Given the description of an element on the screen output the (x, y) to click on. 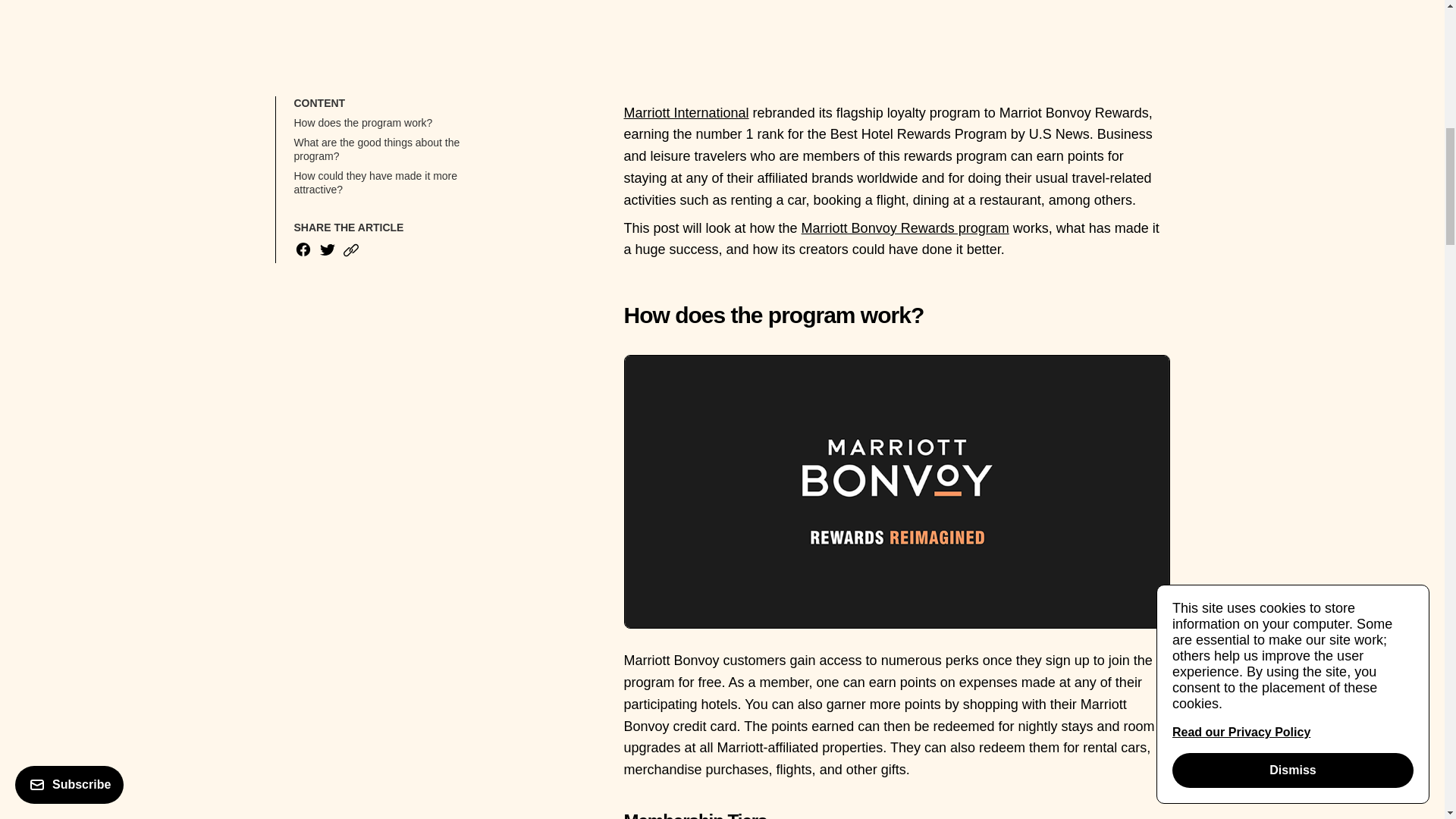
How does the program work? (363, 122)
Marriott International (685, 112)
Marriott Bonvoy Rewards program (905, 227)
How could they have made it more attractive? (396, 182)
What are the good things about the program? (396, 148)
copy (351, 250)
